Given the description of an element on the screen output the (x, y) to click on. 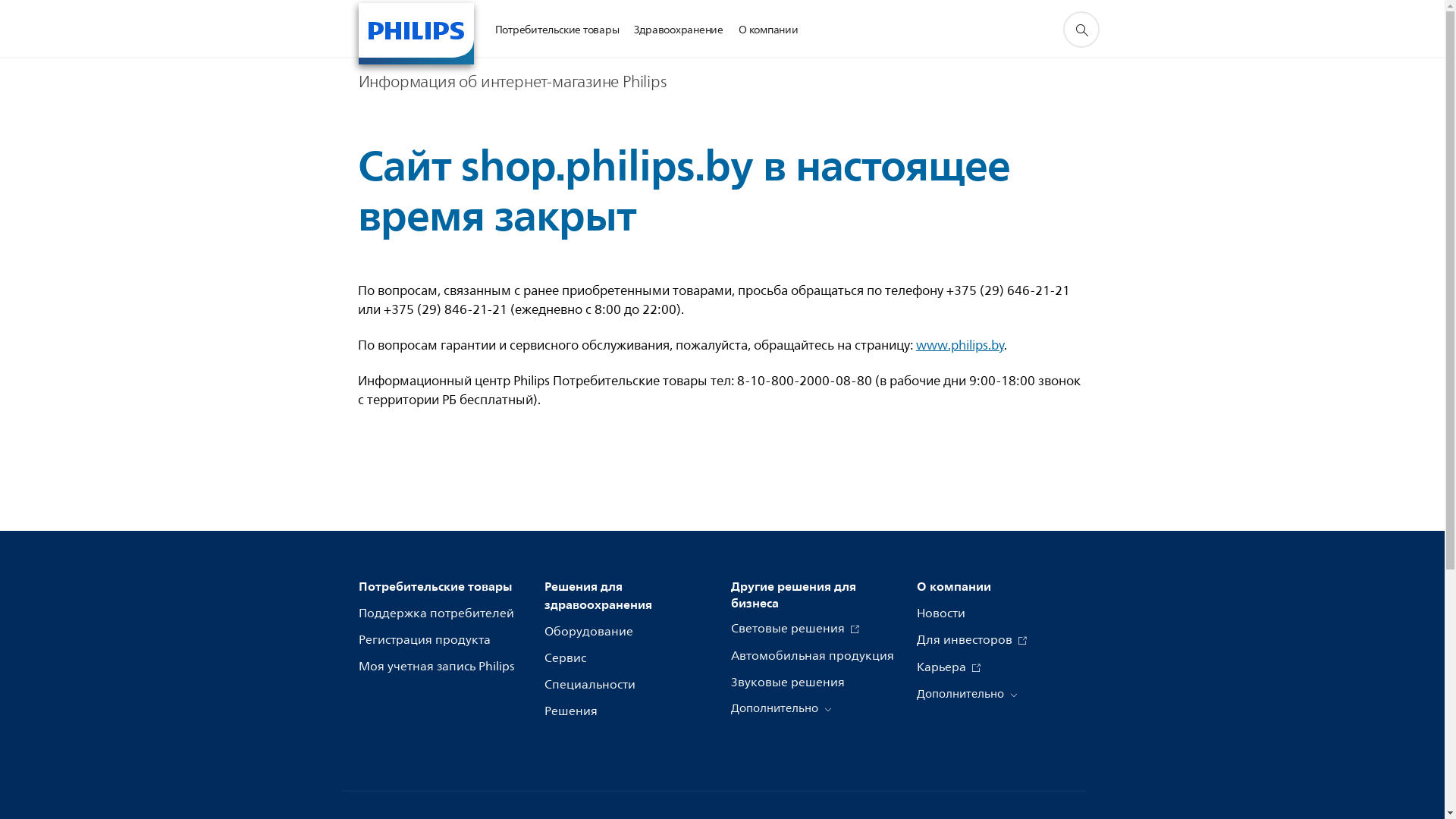
www.philips.by Element type: text (960, 345)
Home Element type: hover (415, 33)
